Given the description of an element on the screen output the (x, y) to click on. 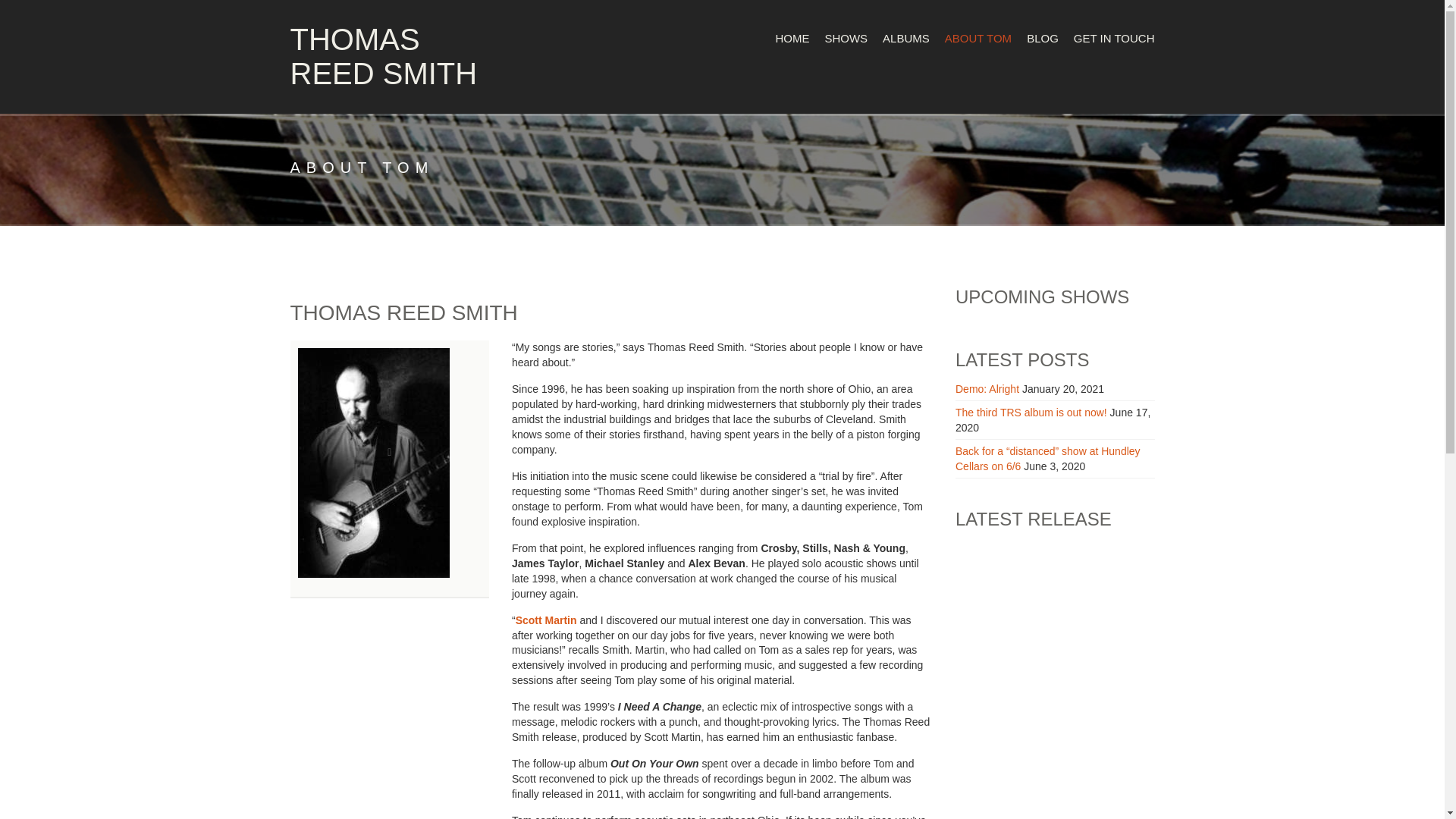
SHOWS (845, 37)
Demo: Alright (987, 388)
ALBUMS (906, 37)
HOME (791, 37)
Scott Martin (545, 620)
THOMAS REED SMITH (383, 56)
GET IN TOUCH (1109, 37)
ABOUT TOM (978, 37)
The third TRS album is out now! (1030, 412)
BLOG (1042, 37)
